Given the description of an element on the screen output the (x, y) to click on. 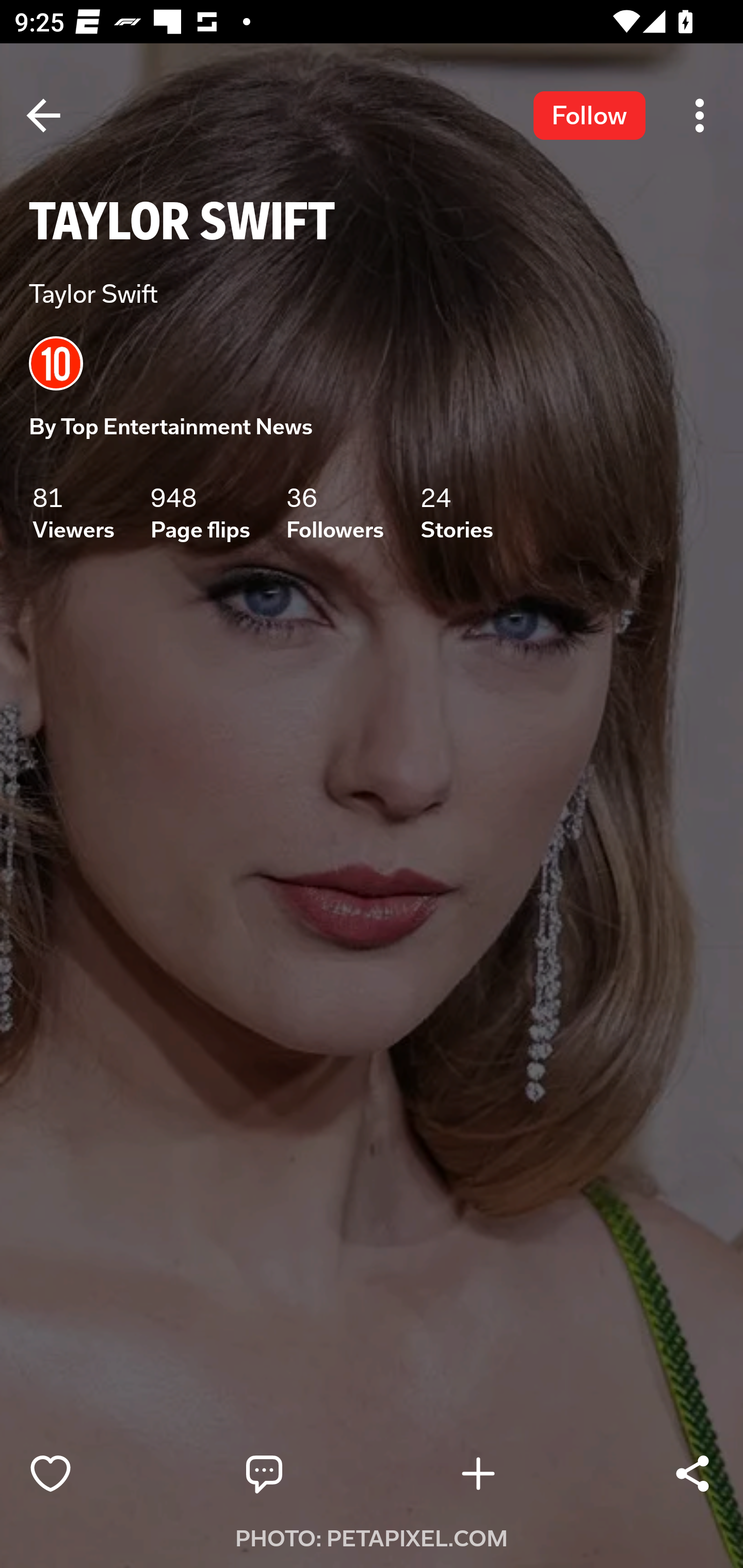
Back (43, 115)
More (699, 115)
Follow (589, 114)
By Top Entertainment News (170, 427)
81 Viewers (73, 512)
948 Page flips (200, 512)
36 Followers (335, 512)
24 Stories (456, 512)
Like (93, 1473)
Write a comment… (307, 1473)
Flip into Magazine (521, 1473)
Share (692, 1473)
PHOTO: PETAPIXEL.COM (371, 1538)
